Given the description of an element on the screen output the (x, y) to click on. 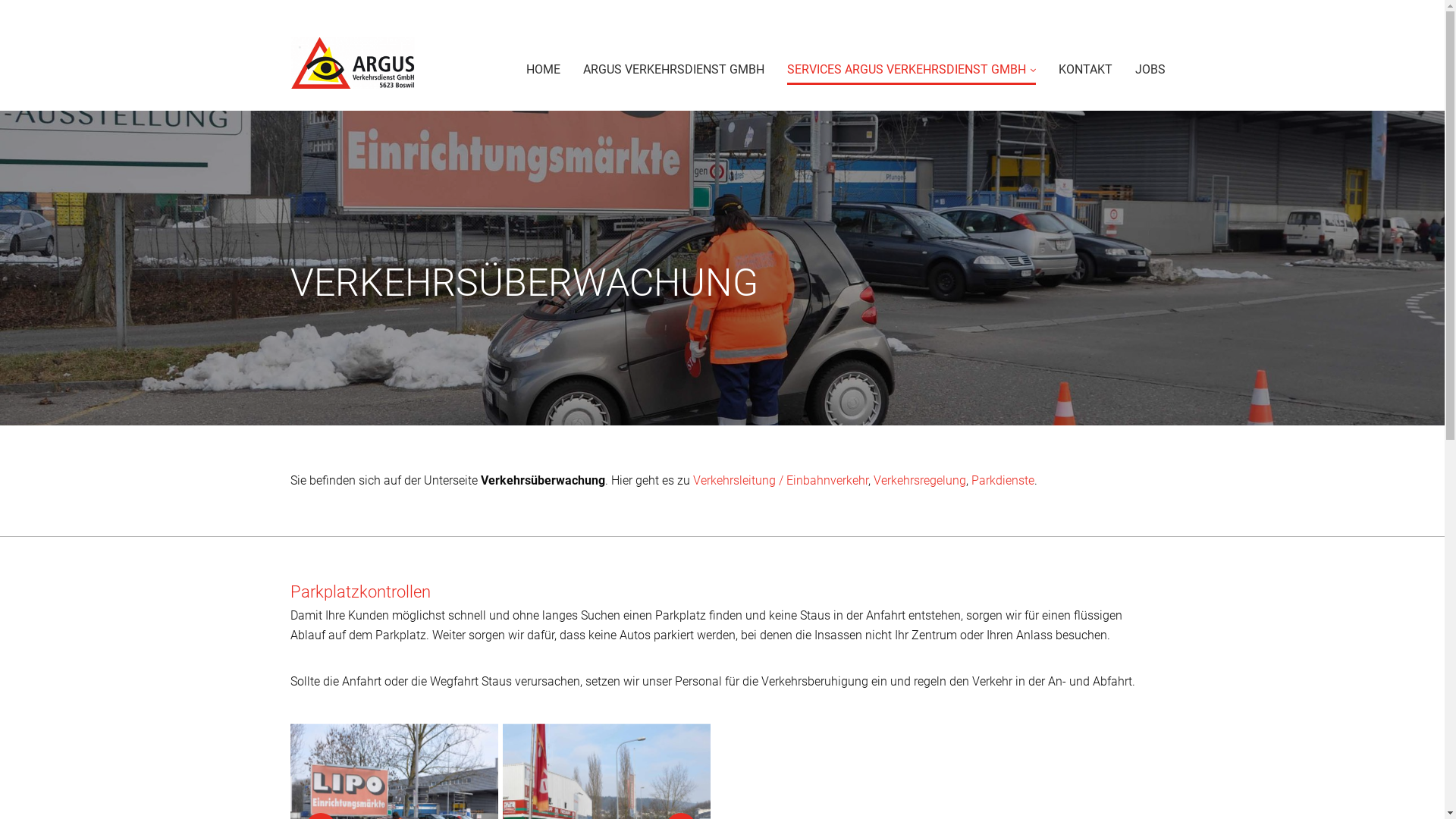
JOBS Element type: text (1150, 66)
Verkehrsregelung Element type: text (919, 480)
KONTAKT Element type: text (1085, 66)
ARGUS VERKEHRSDIENST GMBH Element type: text (673, 66)
Parkdienste Element type: text (1001, 480)
SERVICES ARGUS VERKEHRSDIENST GMBH Element type: text (911, 66)
Verkehrsleitung / Einbahnverkehr Element type: text (780, 480)
HOME Element type: text (543, 66)
